Given the description of an element on the screen output the (x, y) to click on. 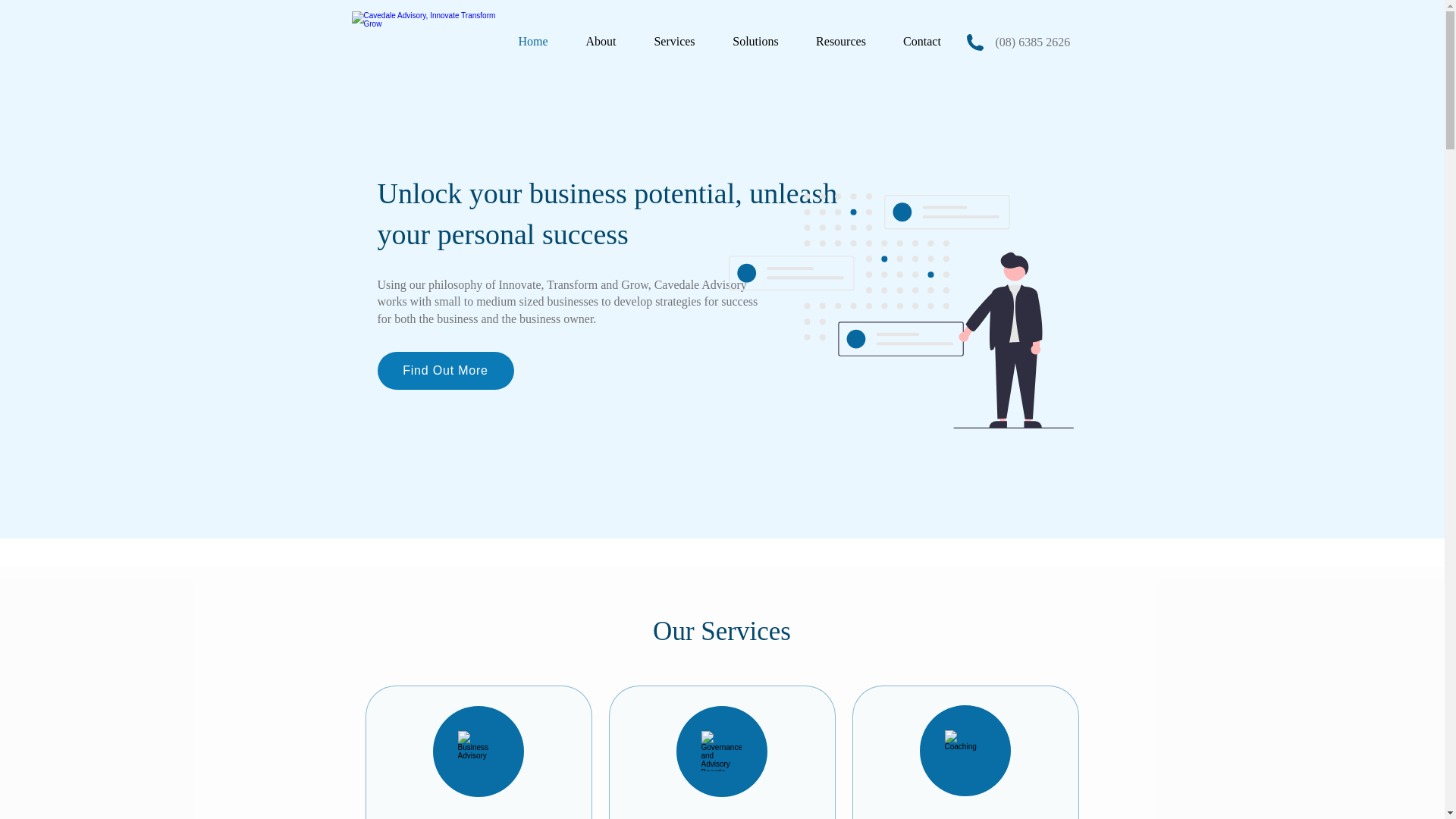
Find Out More (445, 370)
Solutions (755, 41)
Contact (921, 41)
Home (532, 41)
Services (674, 41)
Resources (841, 41)
Homepage (427, 42)
About (600, 41)
